Given the description of an element on the screen output the (x, y) to click on. 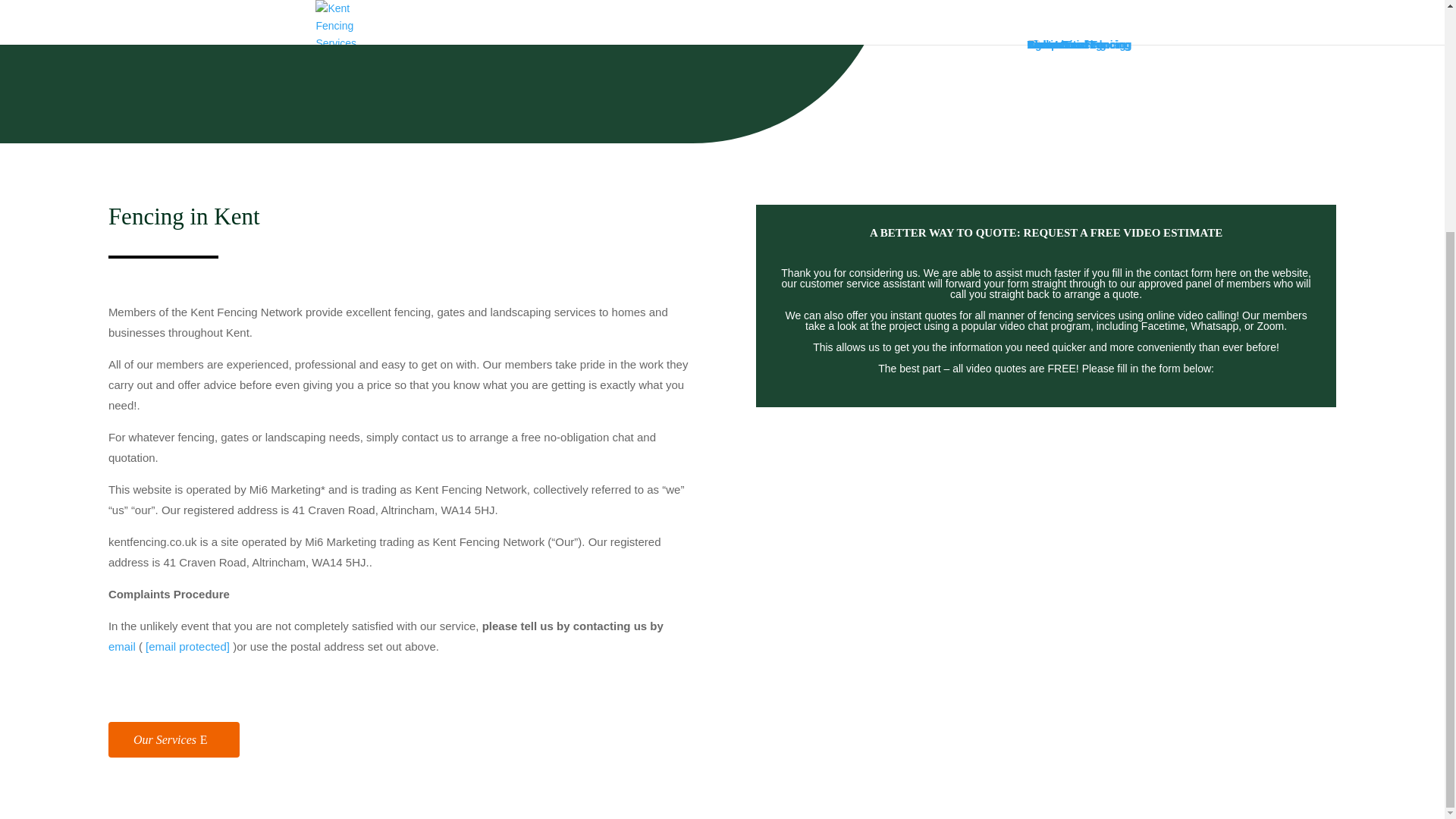
email (121, 645)
Areas Covered (187, 2)
Our Services (173, 738)
